Given the description of an element on the screen output the (x, y) to click on. 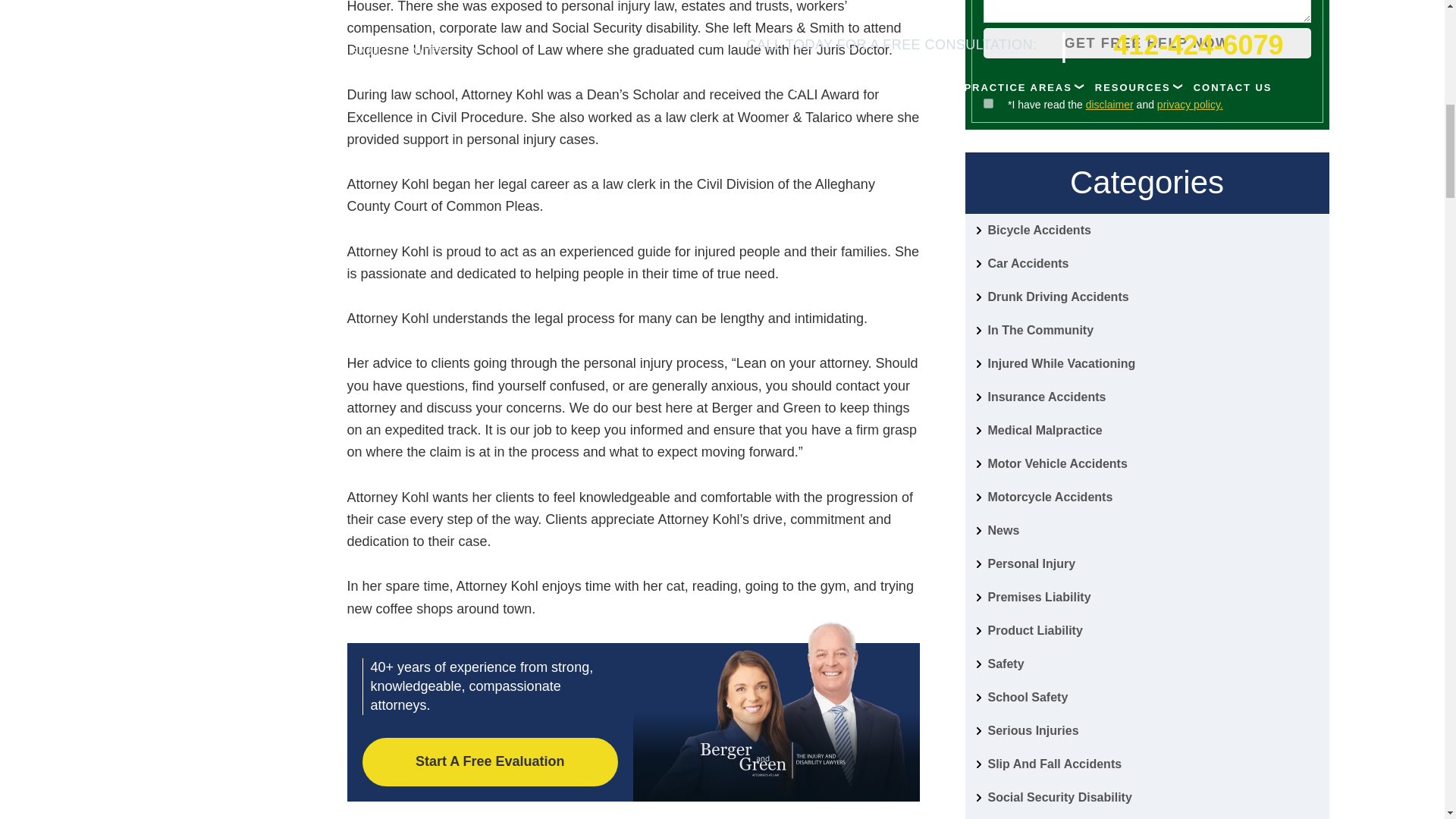
1 (987, 103)
